Given the description of an element on the screen output the (x, y) to click on. 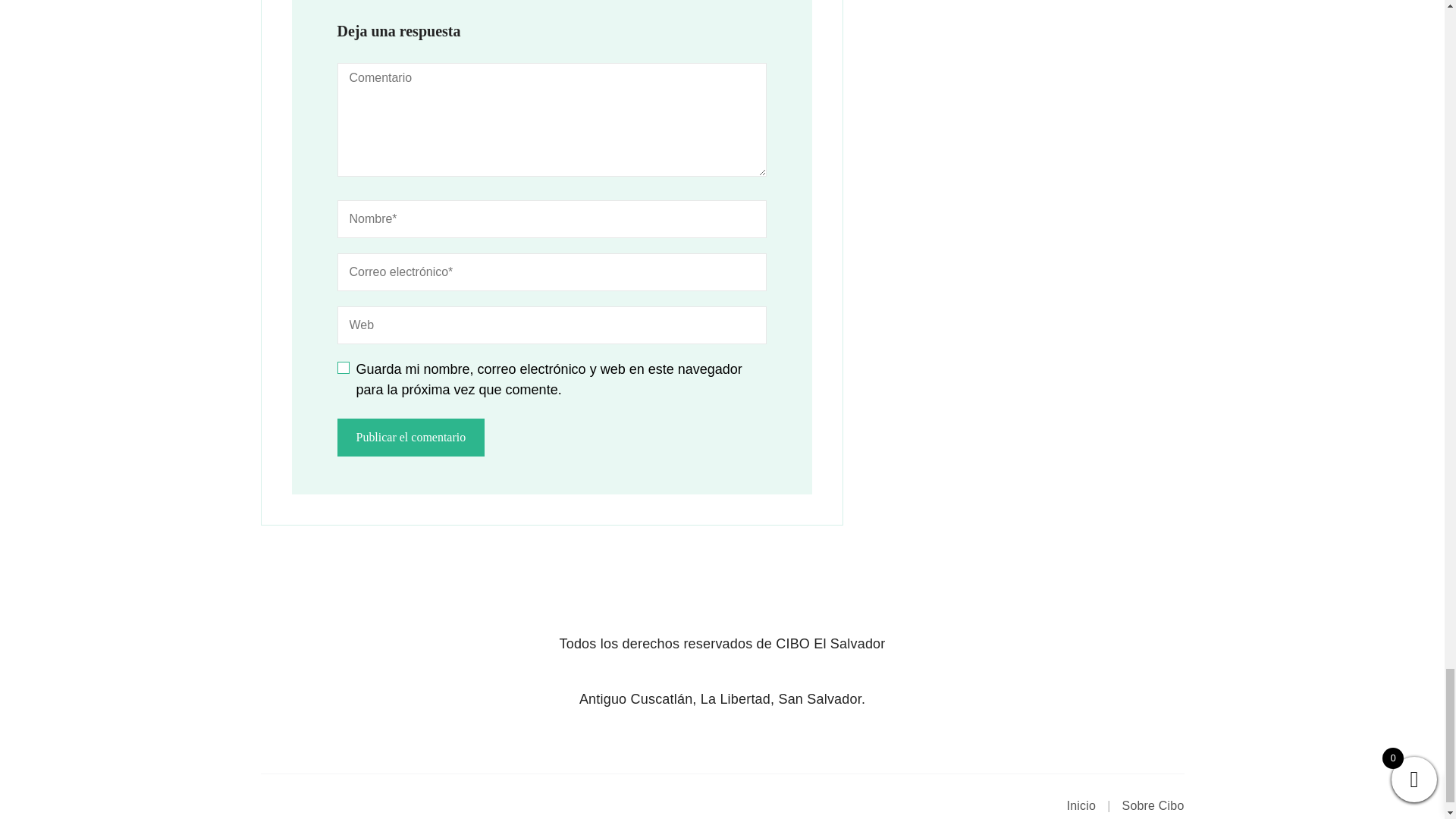
Publicar el comentario (410, 437)
